Given the description of an element on the screen output the (x, y) to click on. 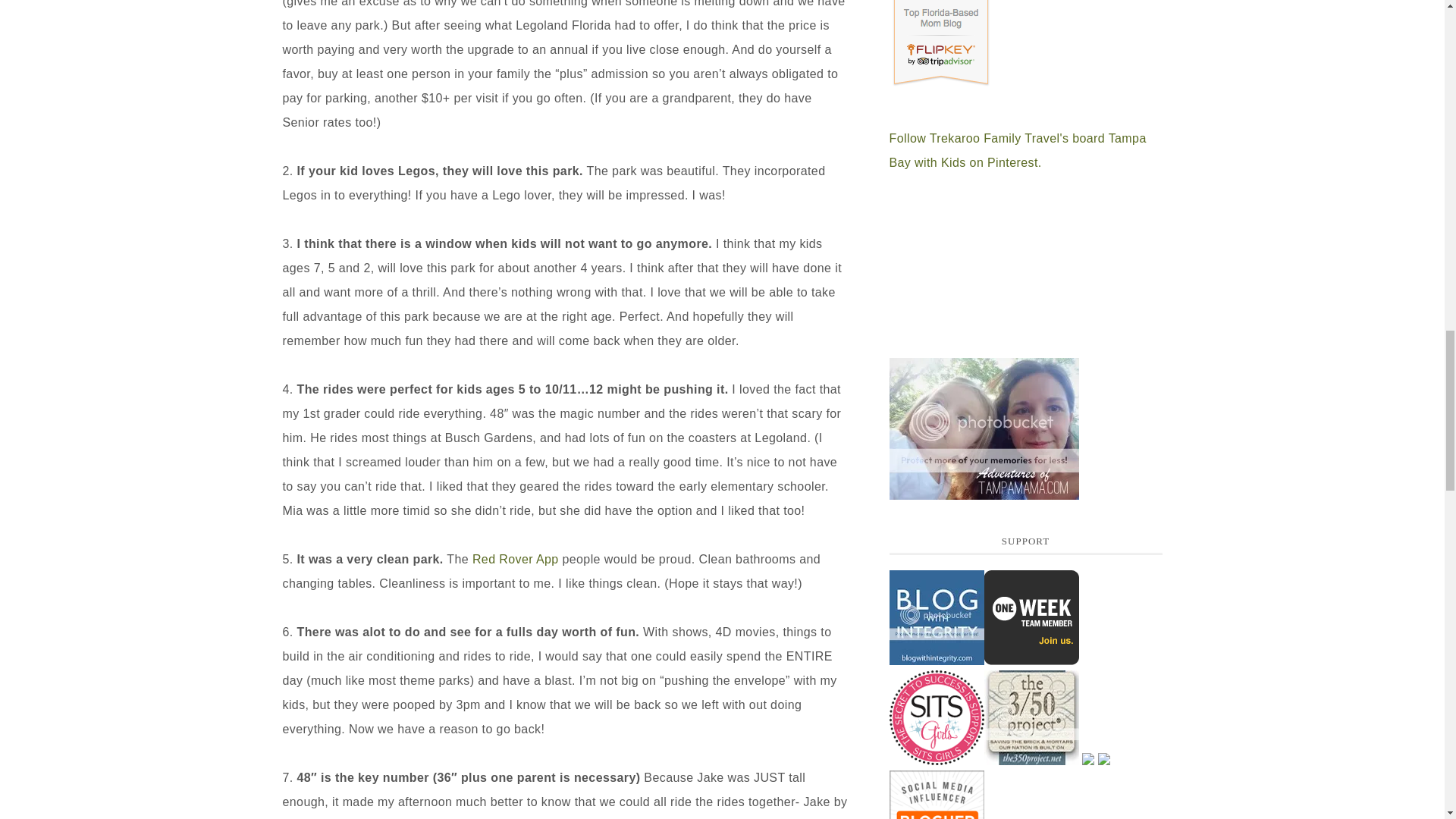
Red Rover App (515, 558)
